Given the description of an element on the screen output the (x, y) to click on. 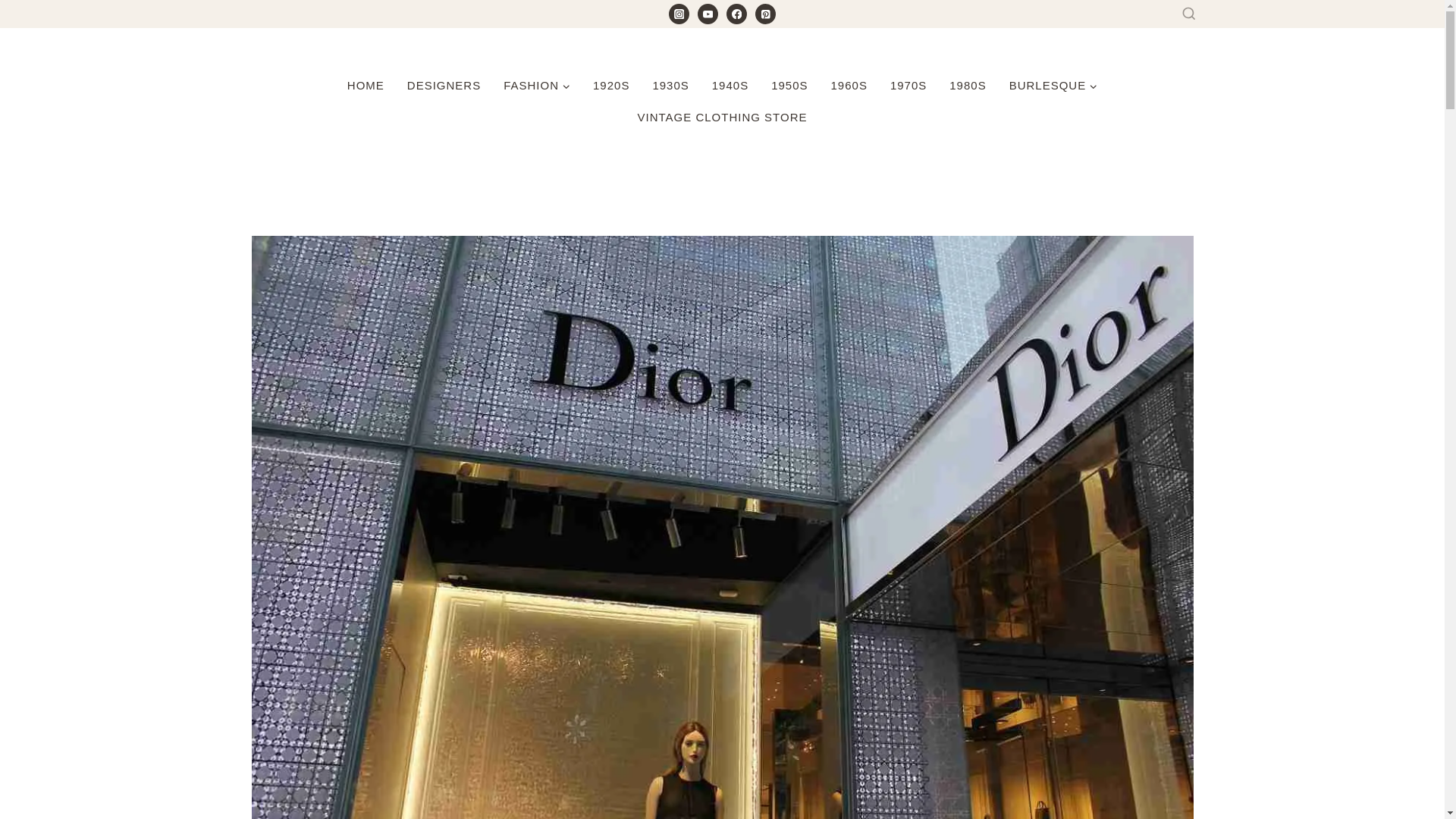
1920S (610, 85)
1930S (670, 85)
1940S (730, 85)
1970S (908, 85)
HOME (366, 85)
1960S (849, 85)
1980S (967, 85)
1950S (789, 85)
DESIGNERS (444, 85)
VINTAGE CLOTHING STORE (722, 117)
